Given the description of an element on the screen output the (x, y) to click on. 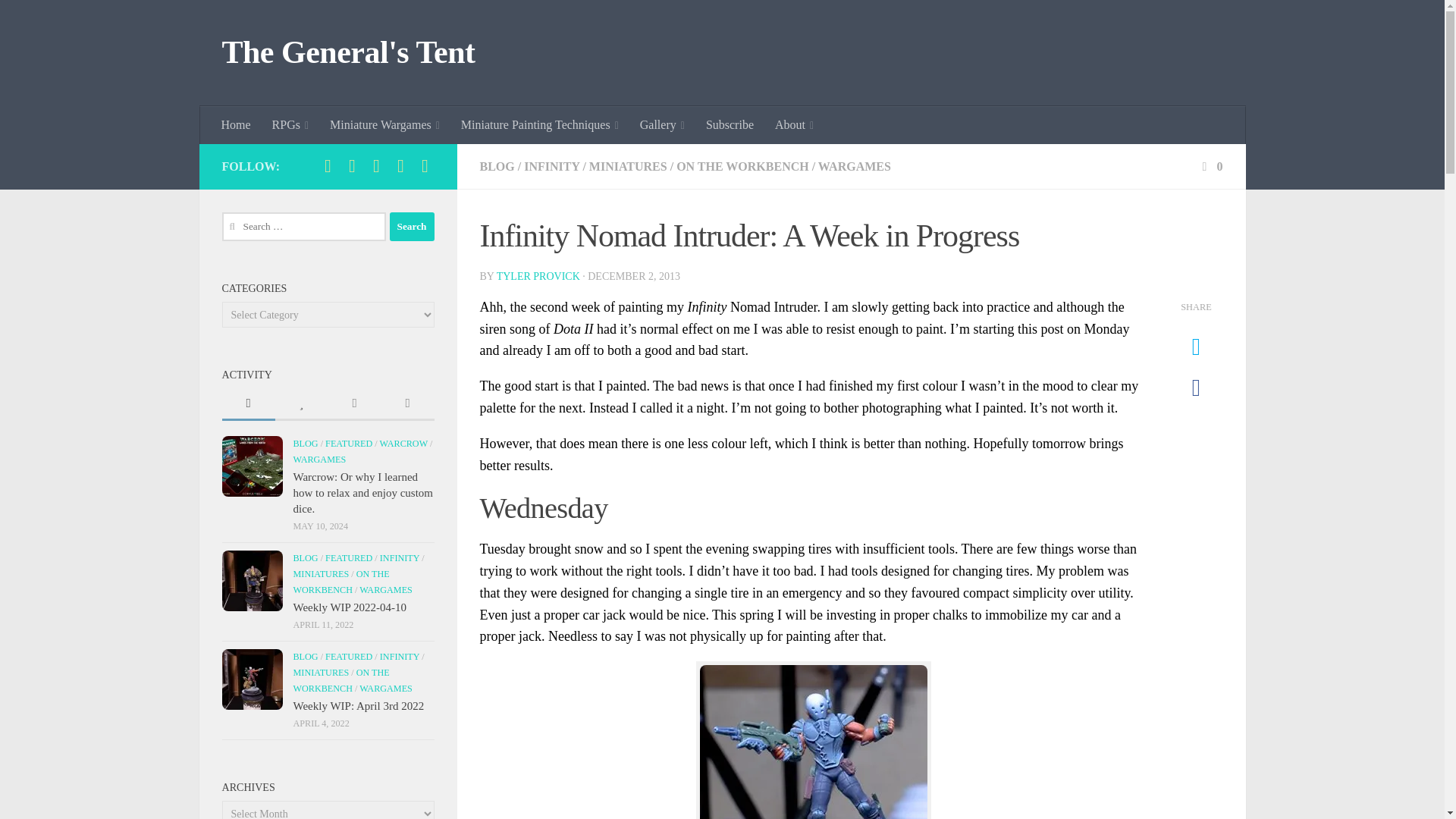
Skip to content (59, 20)
Recent Posts (248, 404)
Popular Posts (301, 404)
Recent Comments (353, 404)
Youtube (375, 166)
Posts by Tyler Provick (537, 276)
Twitter (351, 166)
Tags (406, 404)
Search (411, 226)
Subscribe (423, 166)
Feedburner (400, 166)
Search (411, 226)
